Given the description of an element on the screen output the (x, y) to click on. 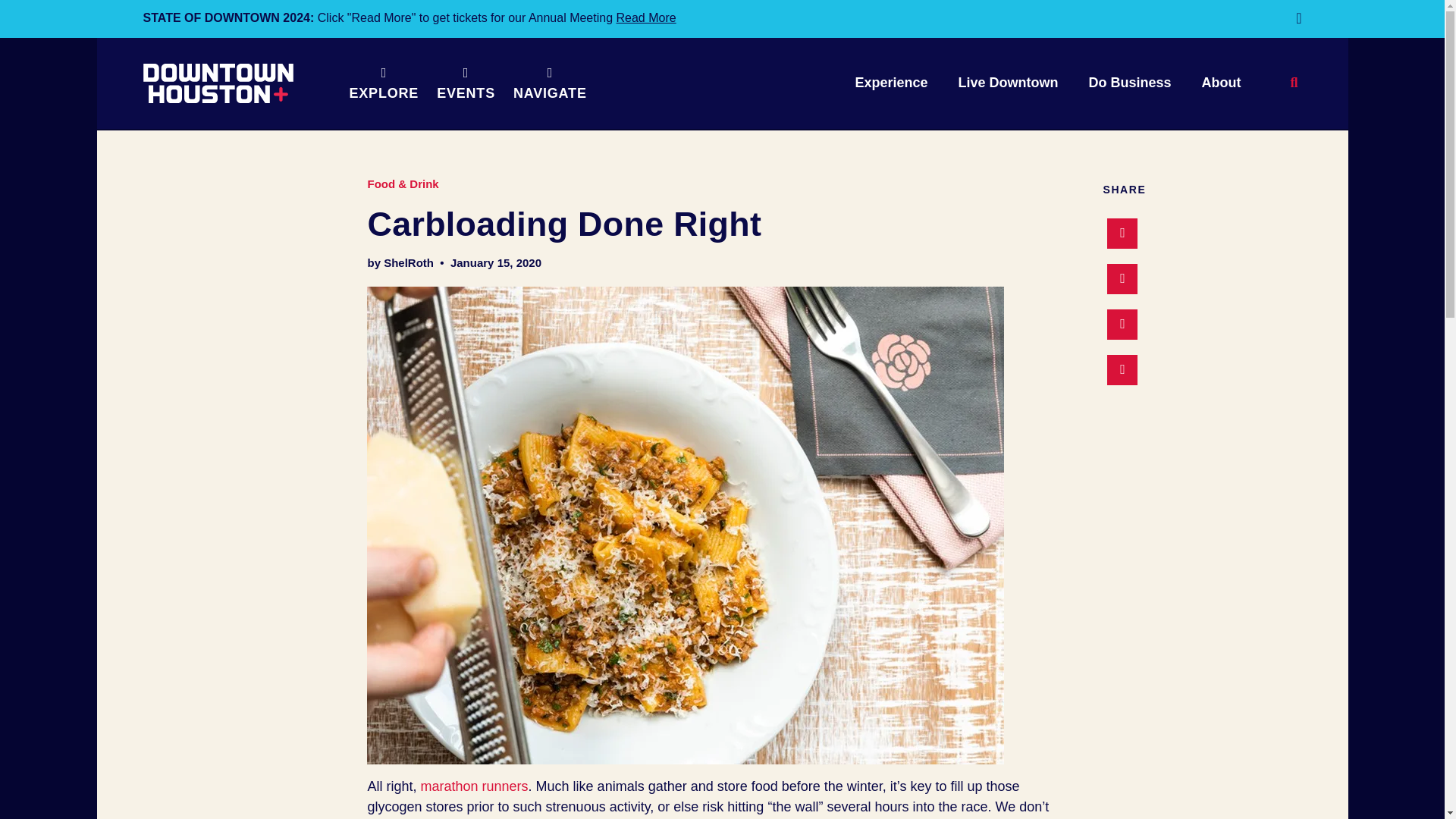
Live Downtown (1007, 82)
EXPLORE (383, 82)
EVENTS (465, 82)
About (1221, 82)
Experience (891, 82)
Read More (646, 17)
Do Business (1129, 82)
NAVIGATE (549, 82)
